Given the description of an element on the screen output the (x, y) to click on. 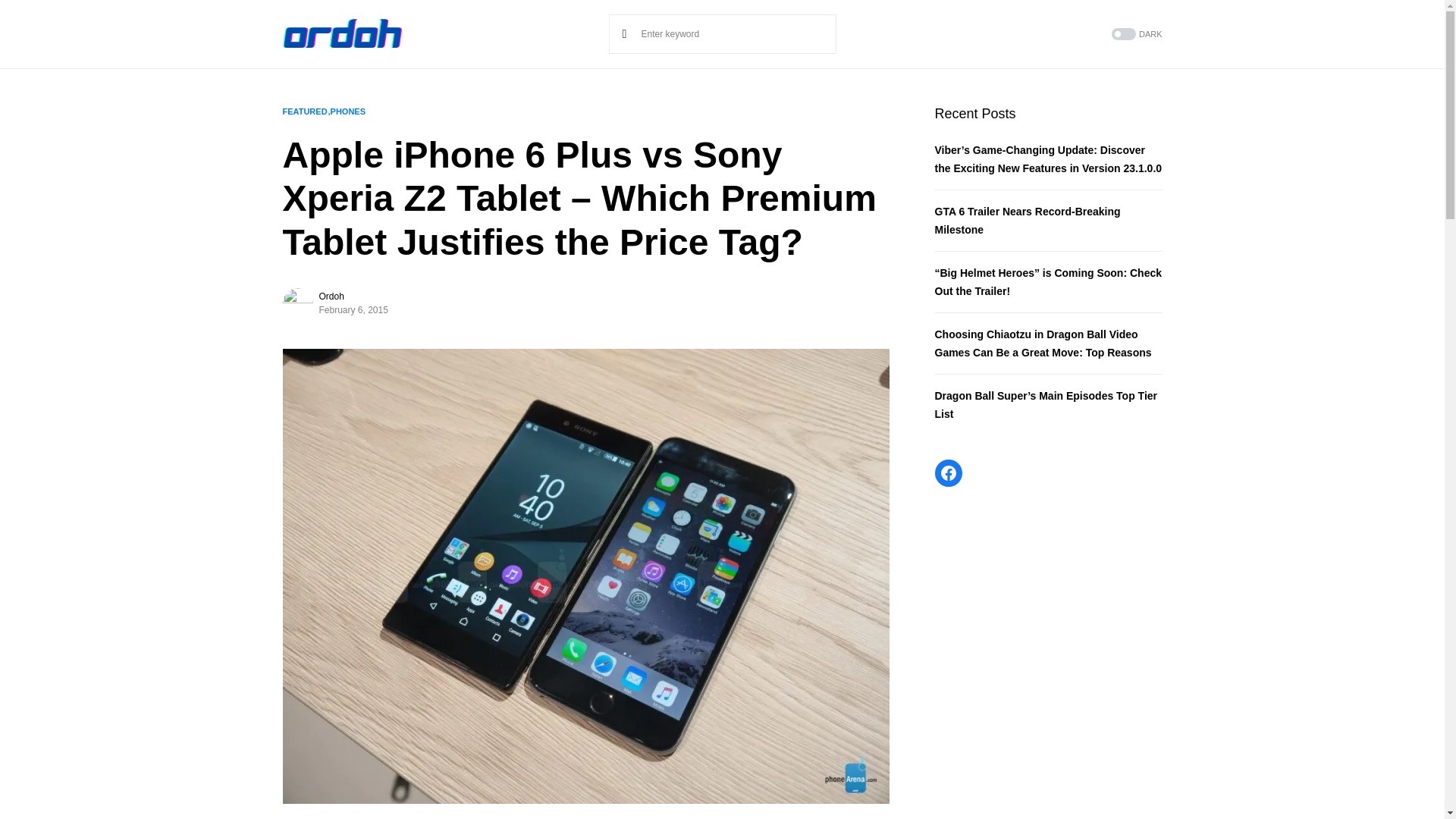
PHONES (347, 111)
FEATURED (304, 111)
Ordoh (330, 296)
